Given the description of an element on the screen output the (x, y) to click on. 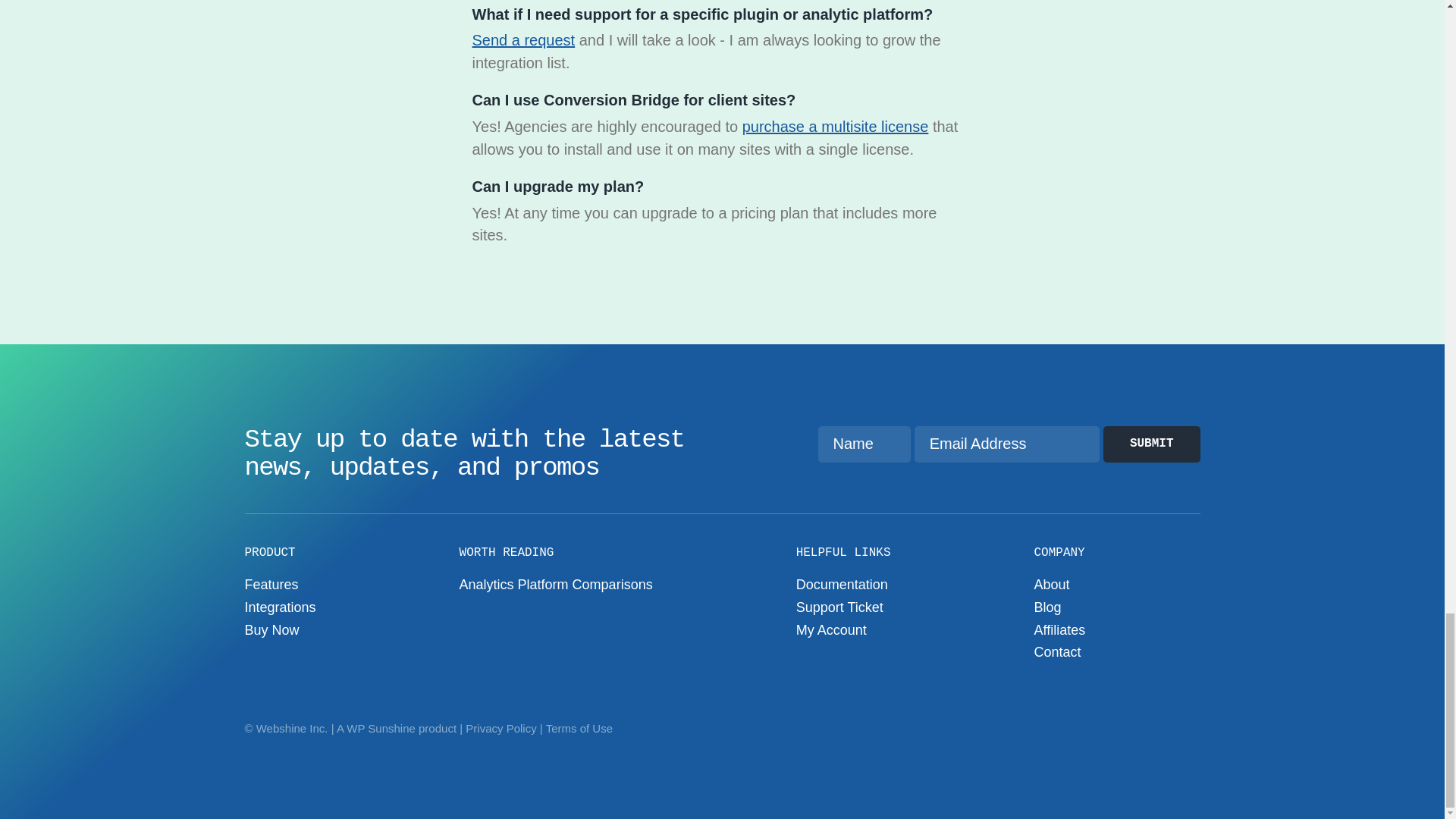
About (1050, 584)
Analytics Platform Comparisons (556, 584)
My Account (831, 630)
SUBMIT (1151, 443)
Integrations (279, 607)
Features (271, 584)
Documentation (842, 584)
Support Ticket (839, 607)
Buy Now (271, 630)
Send a request (523, 39)
purchase a multisite license (835, 126)
